Given the description of an element on the screen output the (x, y) to click on. 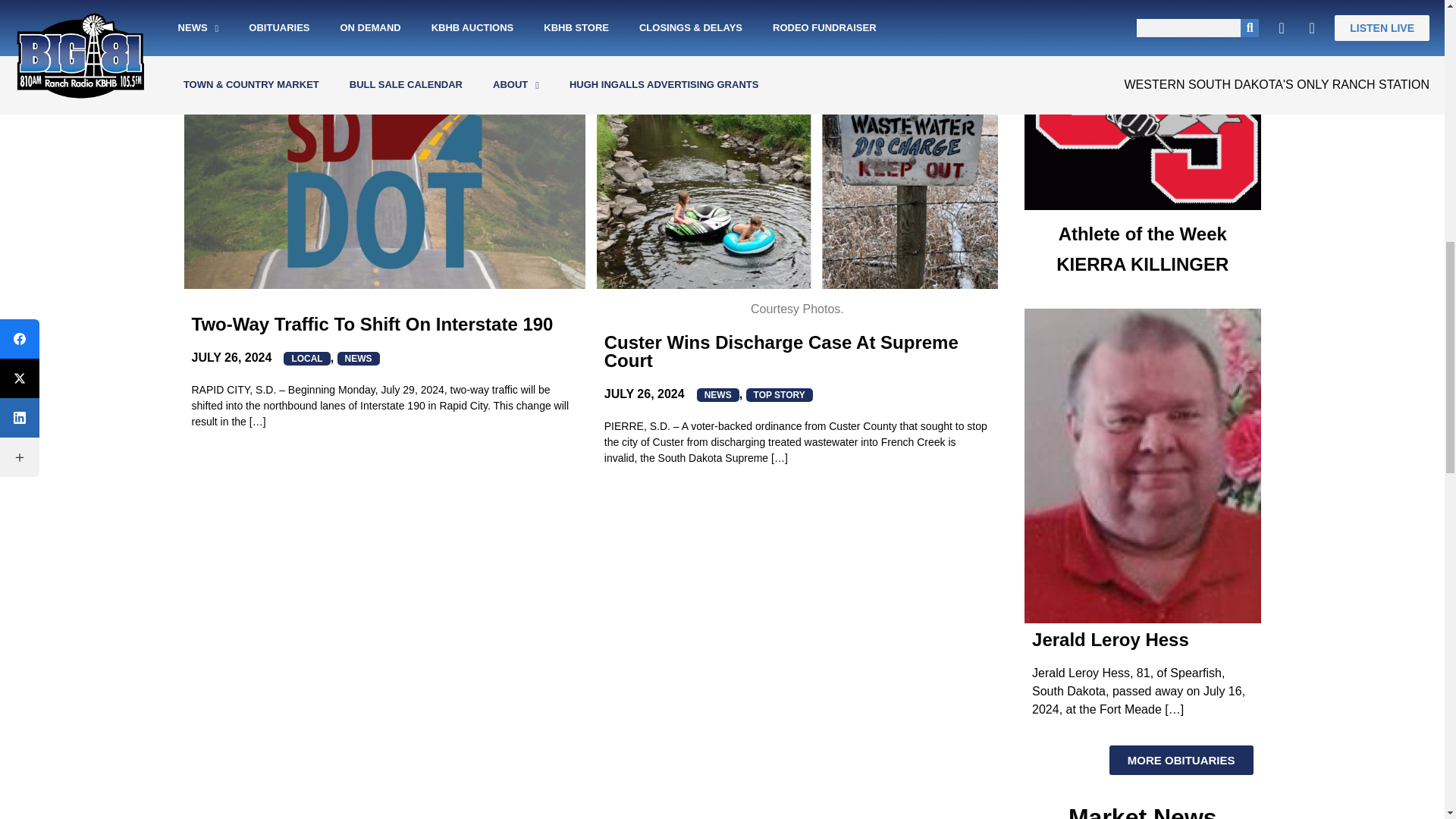
Scooper-Logo (1142, 104)
3rd party ad content (1142, 121)
